Given the description of an element on the screen output the (x, y) to click on. 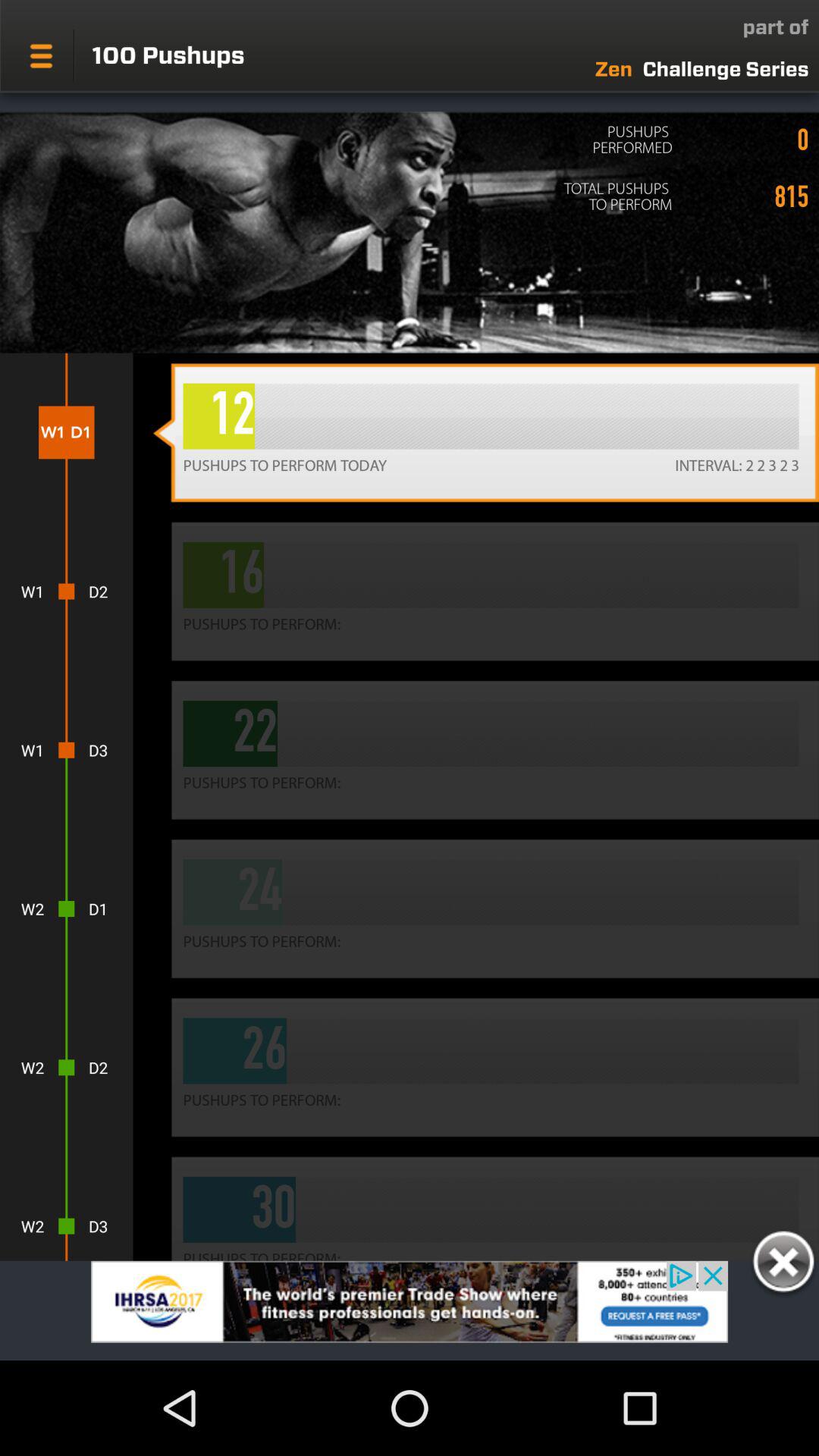
go to advertisement page (409, 1310)
